Given the description of an element on the screen output the (x, y) to click on. 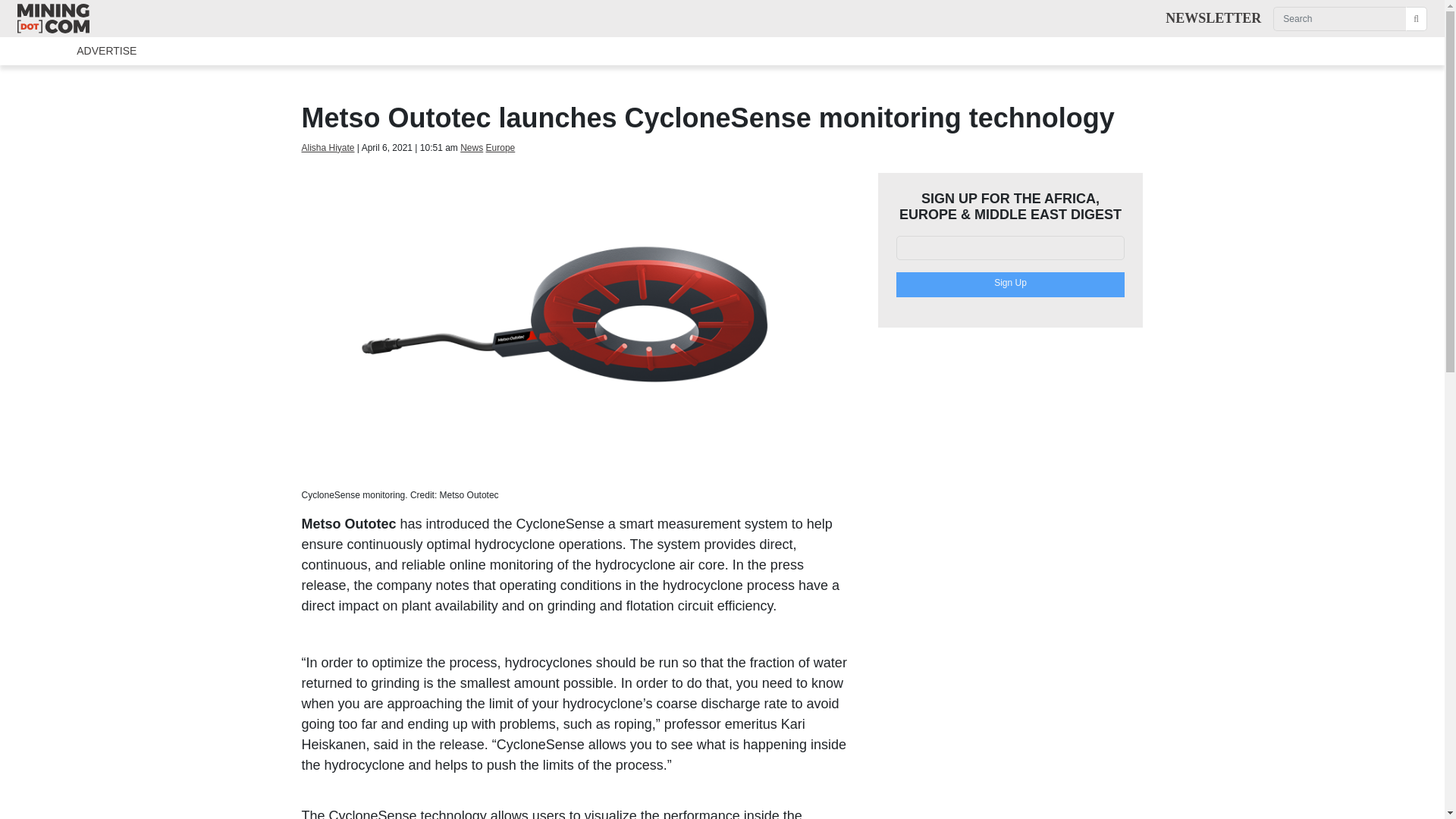
NEWSLETTER (1212, 18)
Alisha Hiyate (328, 147)
Europe (500, 147)
ADVERTISE (79, 50)
Sign Up (1010, 284)
News (471, 147)
